Given the description of an element on the screen output the (x, y) to click on. 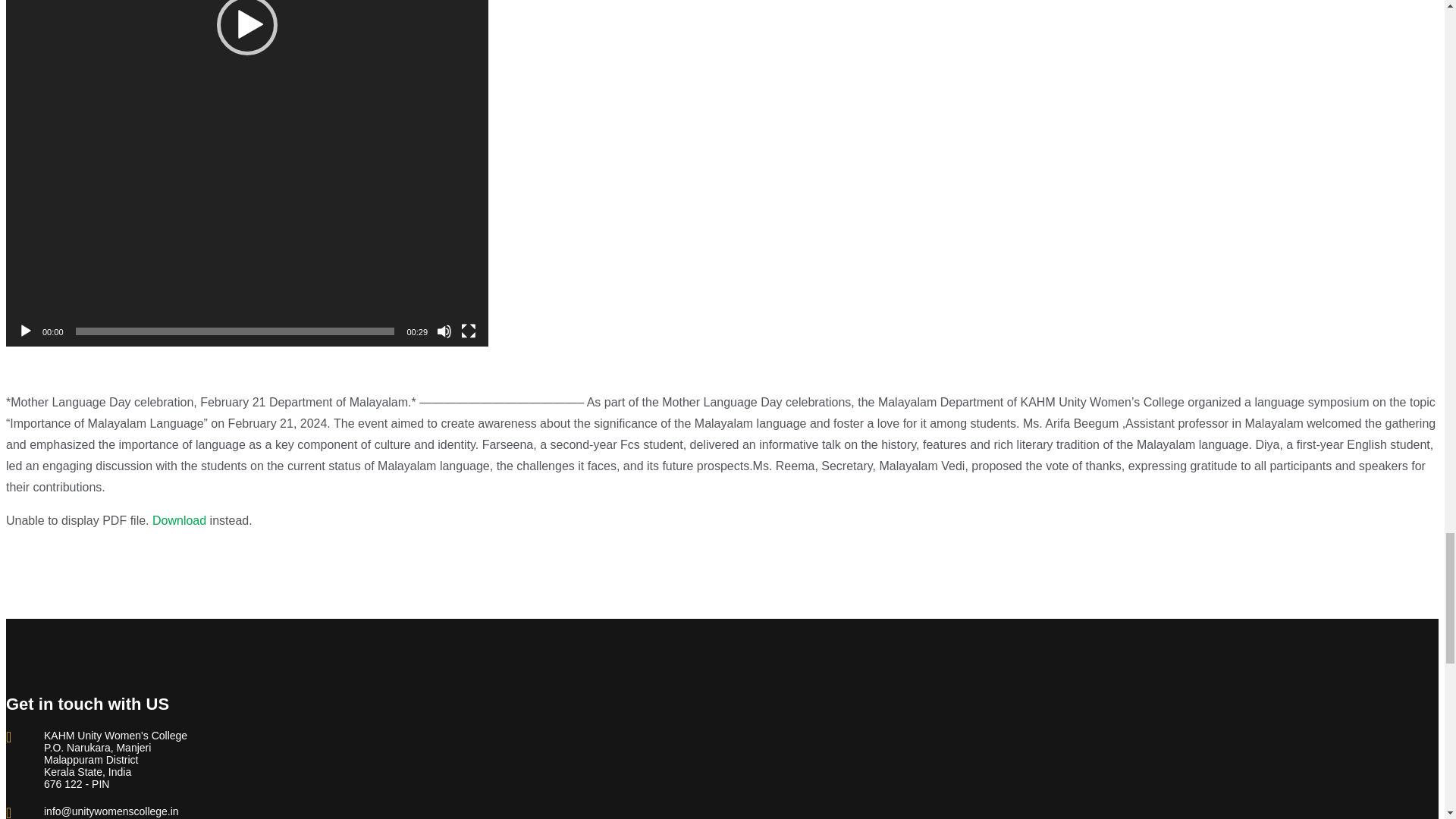
Fullscreen (468, 331)
Mute (443, 331)
Play (25, 331)
